Given the description of an element on the screen output the (x, y) to click on. 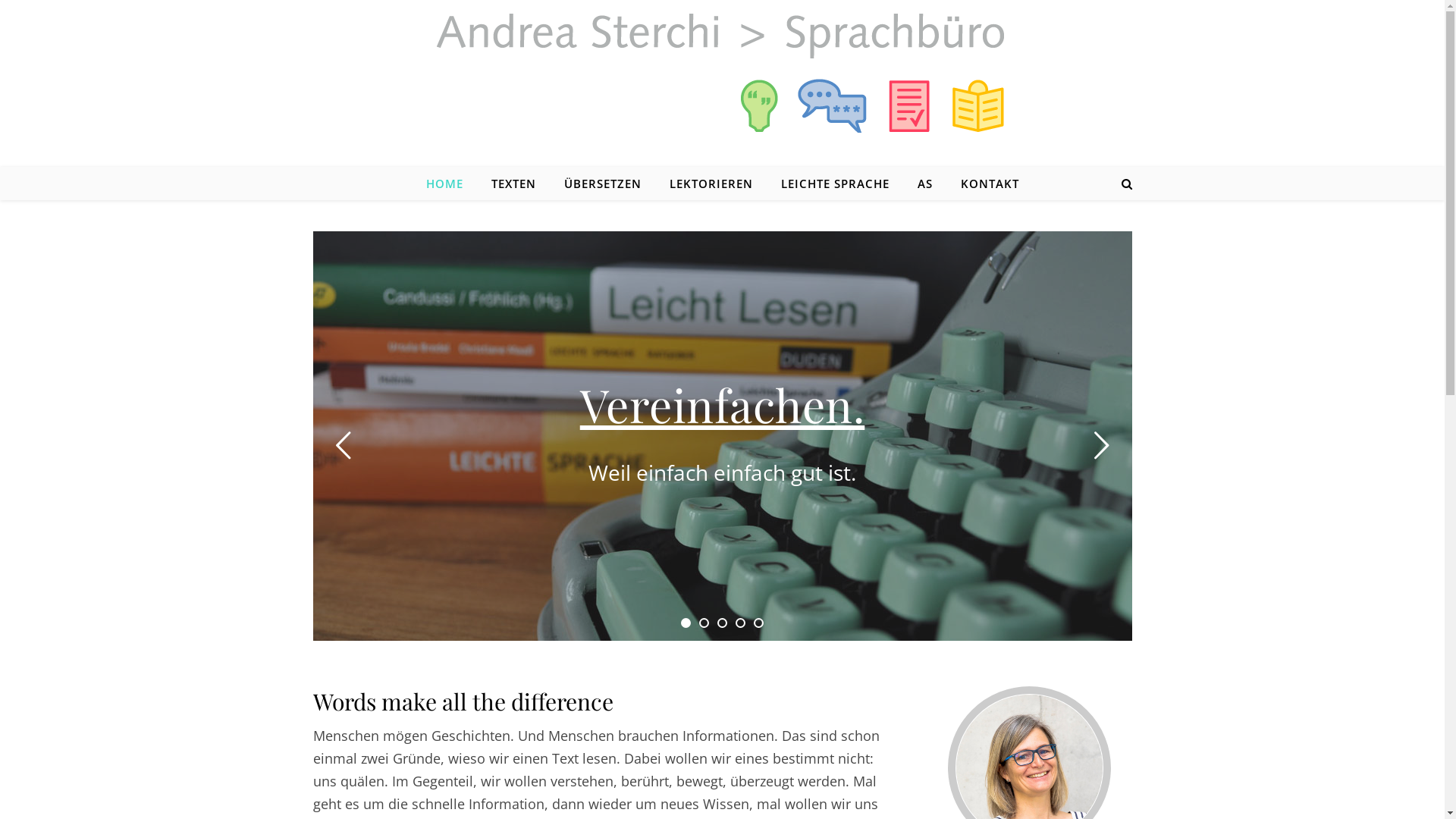
LEKTORIEREN Element type: text (710, 183)
LEICHTE SPRACHE Element type: text (834, 183)
HOME Element type: text (450, 183)
KONTAKT Element type: text (982, 183)
AS Element type: text (924, 183)
TEXTEN Element type: text (513, 183)
Vereinfachen. Element type: text (722, 403)
